Given the description of an element on the screen output the (x, y) to click on. 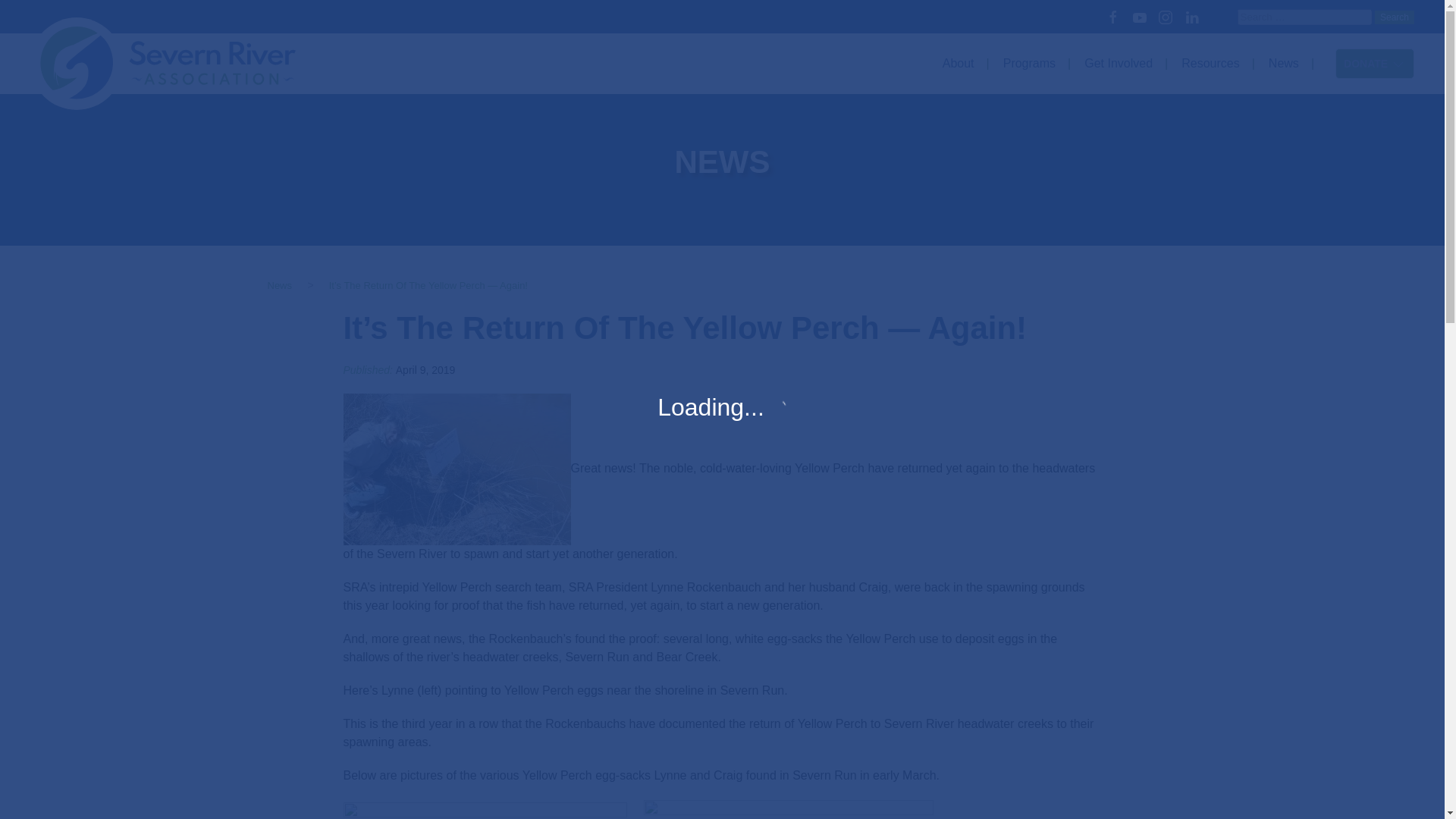
Search (1393, 17)
Get Involved (1121, 63)
Search (1393, 17)
Programs (1032, 63)
Search (1393, 17)
Resources (1213, 63)
DONATE (1374, 63)
